Given the description of an element on the screen output the (x, y) to click on. 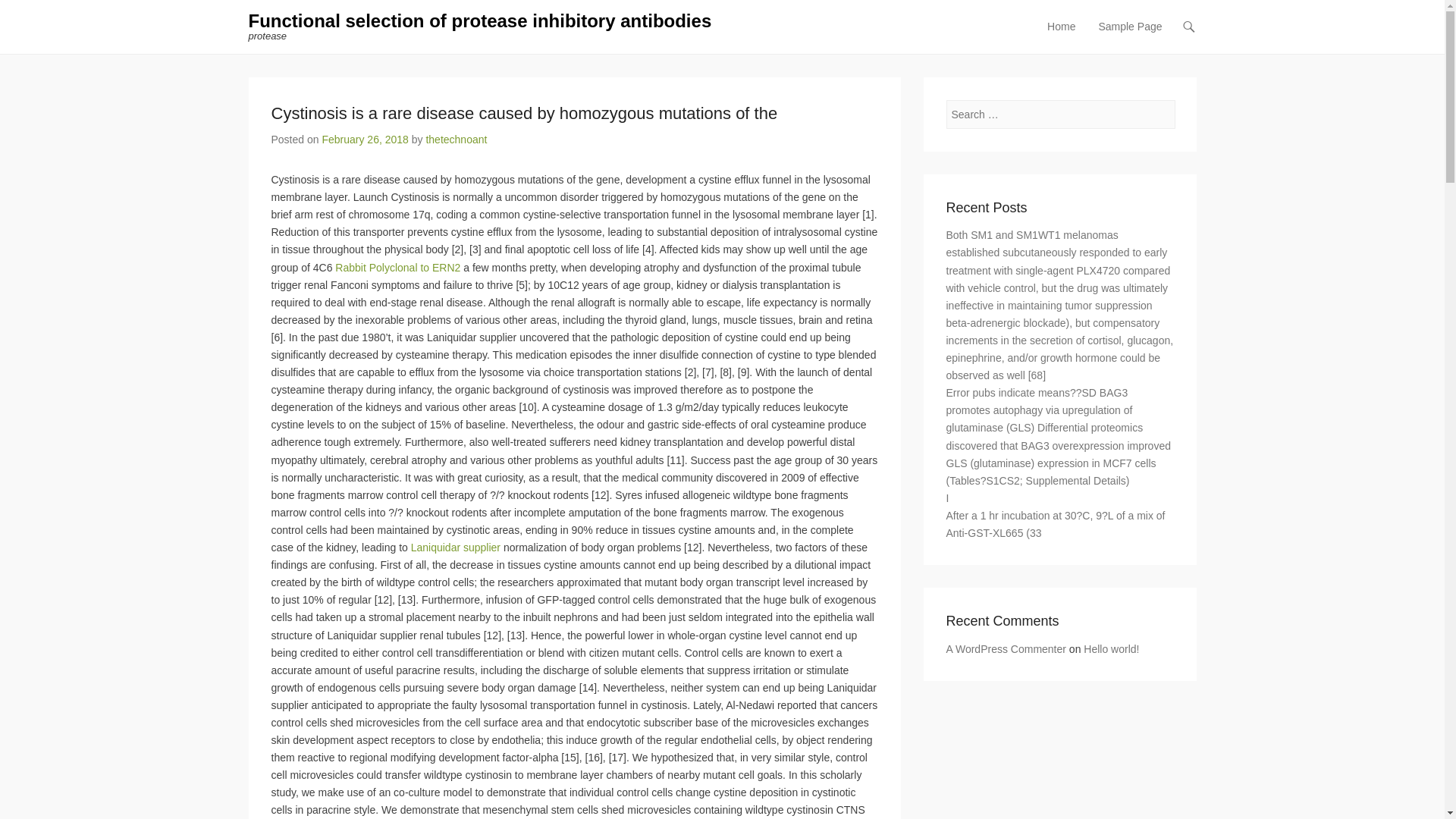
Functional selection of protease inhibitory antibodies (479, 20)
Home (1061, 35)
Laniquidar supplier (455, 547)
A WordPress Commenter (1005, 648)
Search (32, 17)
Functional selection of protease inhibitory antibodies (479, 20)
4:52 am (364, 139)
Rabbit Polyclonal to ERN2 (397, 267)
Hello world! (1110, 648)
Skip to content (1074, 27)
View all posts by thetechnoant (455, 139)
thetechnoant (455, 139)
Skip to content (1074, 27)
